Given the description of an element on the screen output the (x, y) to click on. 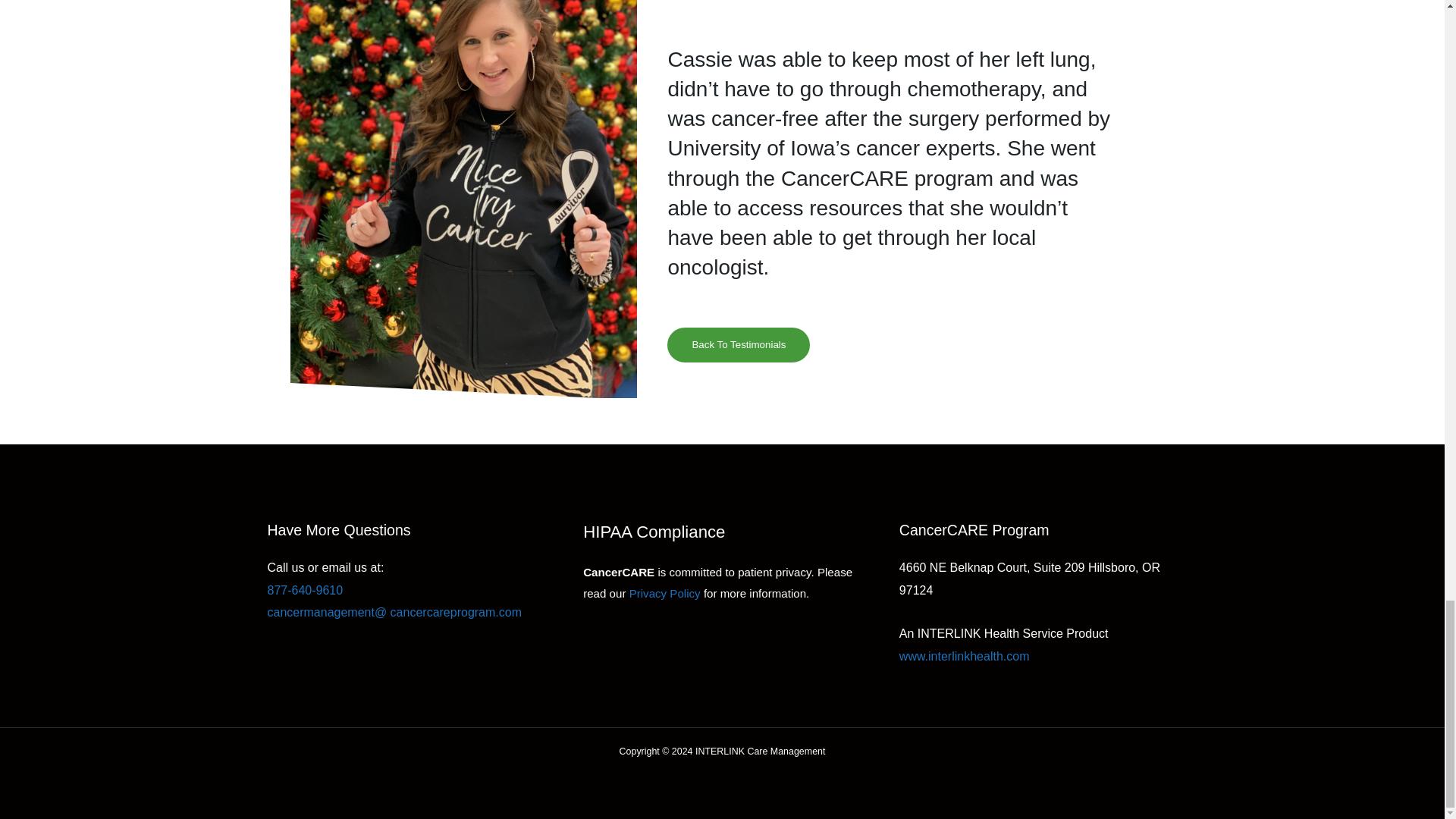
Back To Testimonials (737, 344)
877-640-9610 (304, 590)
www.interlinkhealth.com (964, 656)
Privacy Policy (664, 593)
